Given the description of an element on the screen output the (x, y) to click on. 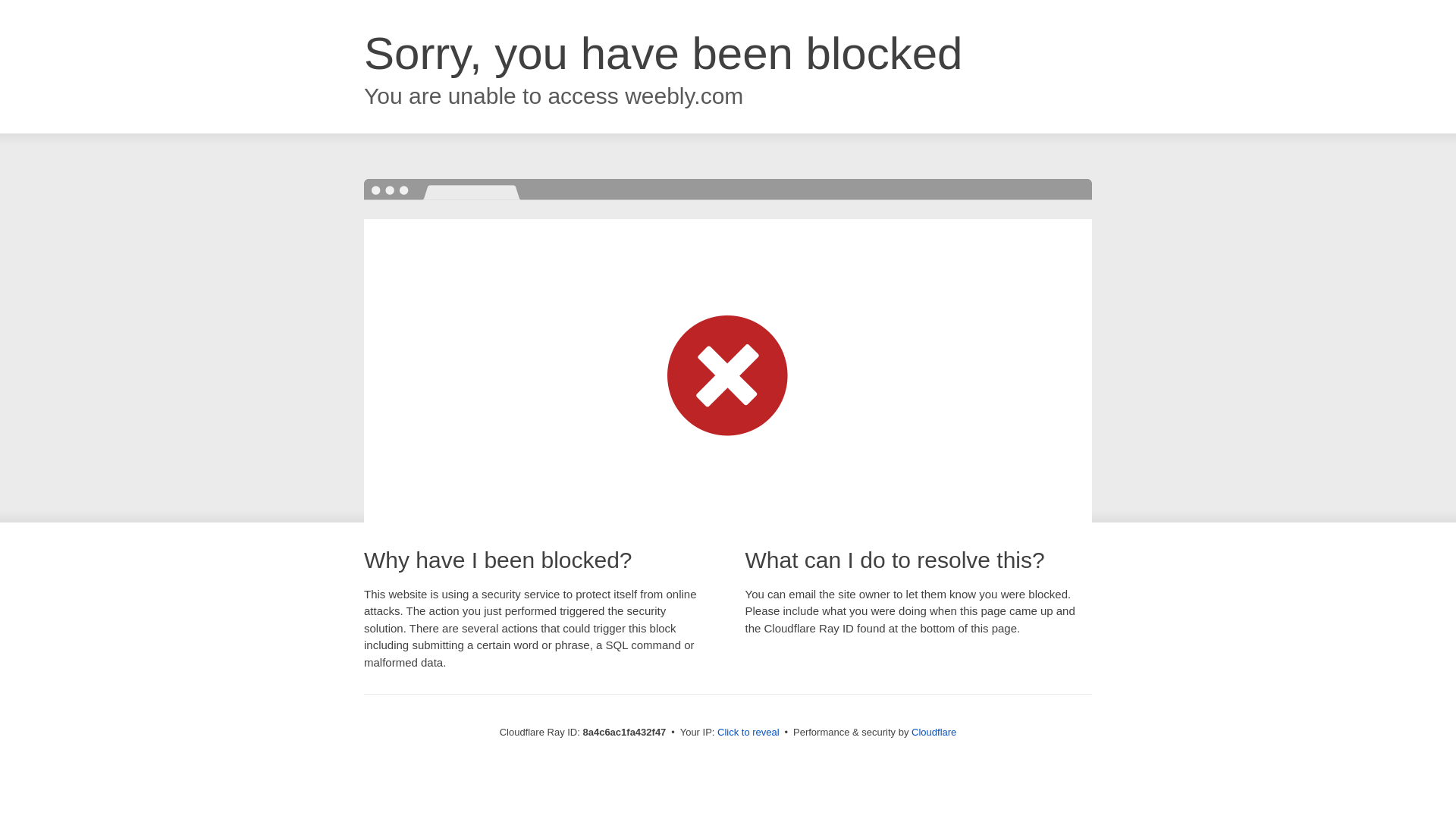
Cloudflare (933, 731)
Click to reveal (747, 732)
